Given the description of an element on the screen output the (x, y) to click on. 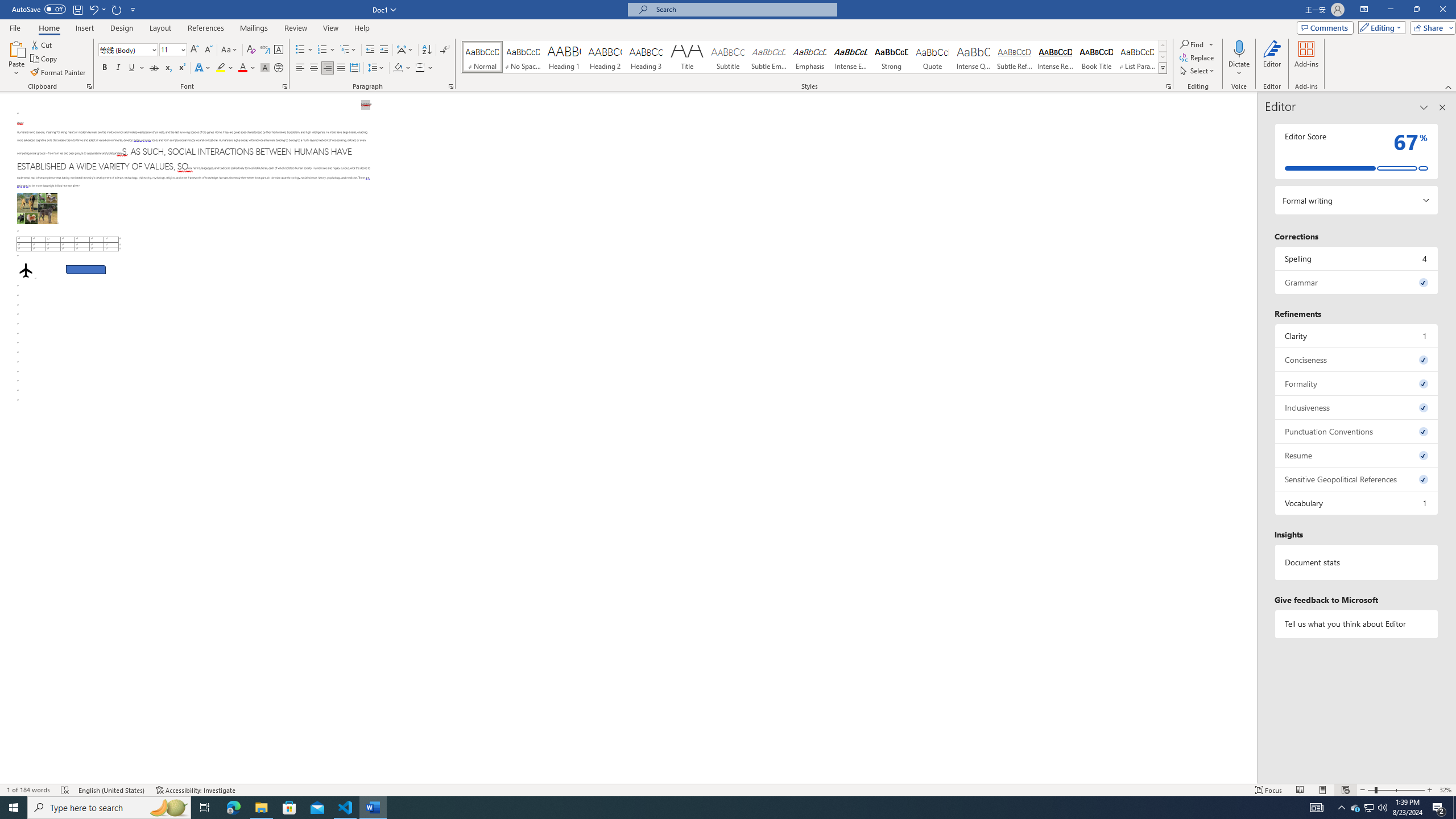
Word Count 1 of 184 words (28, 790)
Airplane with solid fill (25, 270)
Vocabulary, 1 issue. Press space or enter to review items. (1356, 502)
Undo Paragraph Alignment (96, 9)
Heading 2 (605, 56)
